Given the description of an element on the screen output the (x, y) to click on. 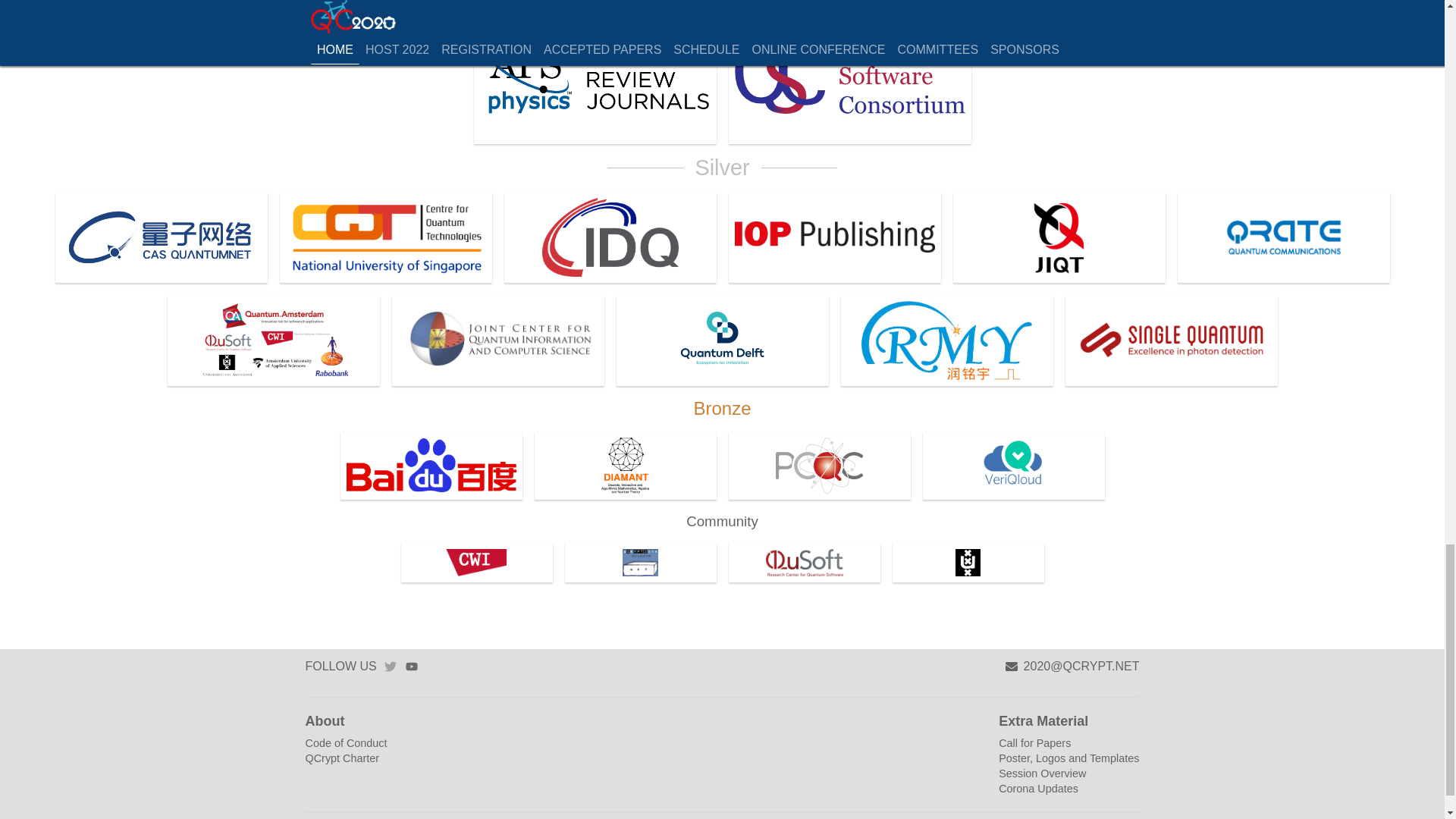
Single Quantum (1170, 339)
VeriQloud (1012, 465)
QuTech (721, 339)
JIQT (1058, 236)
RMY (946, 339)
Quantum.Amsterdam (272, 339)
CAS Quantumnet (160, 236)
Diamant (625, 465)
PCQC (819, 465)
QRate (1282, 236)
